Given the description of an element on the screen output the (x, y) to click on. 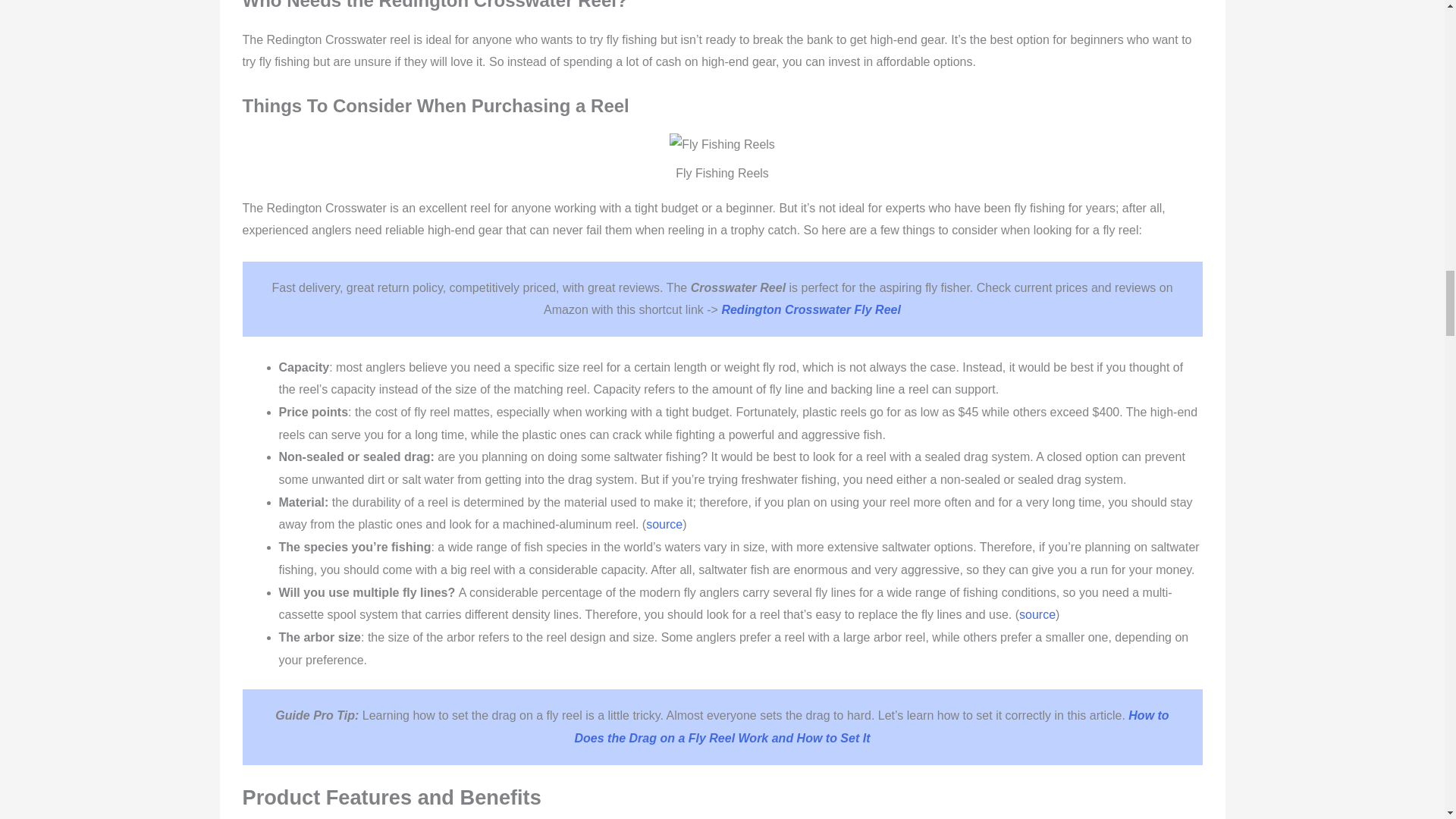
Redington Crosswater Fly Reel (810, 309)
How to Does the Drag on a Fly Reel Work and How to Set It (872, 726)
source (1037, 614)
source (664, 523)
